Given the description of an element on the screen output the (x, y) to click on. 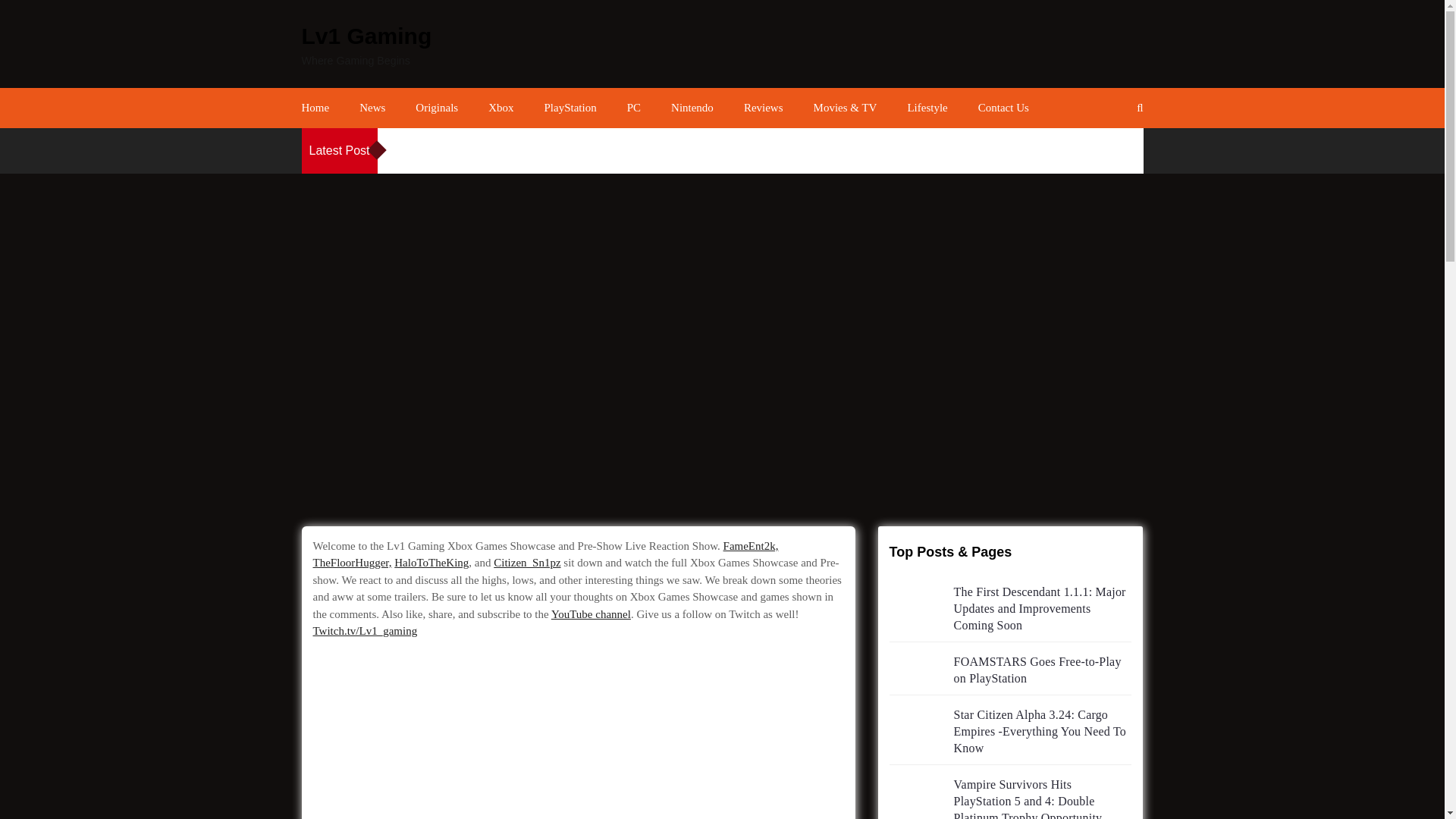
PlayStation (570, 107)
Contact Us (1003, 107)
FOAMSTARS Goes Free-to-Play on PlayStation (1037, 669)
FameEnt2k, (750, 545)
YouTube channel (590, 613)
News (372, 107)
Lifestyle (927, 107)
PC (633, 107)
Xbox (500, 107)
